Given the description of an element on the screen output the (x, y) to click on. 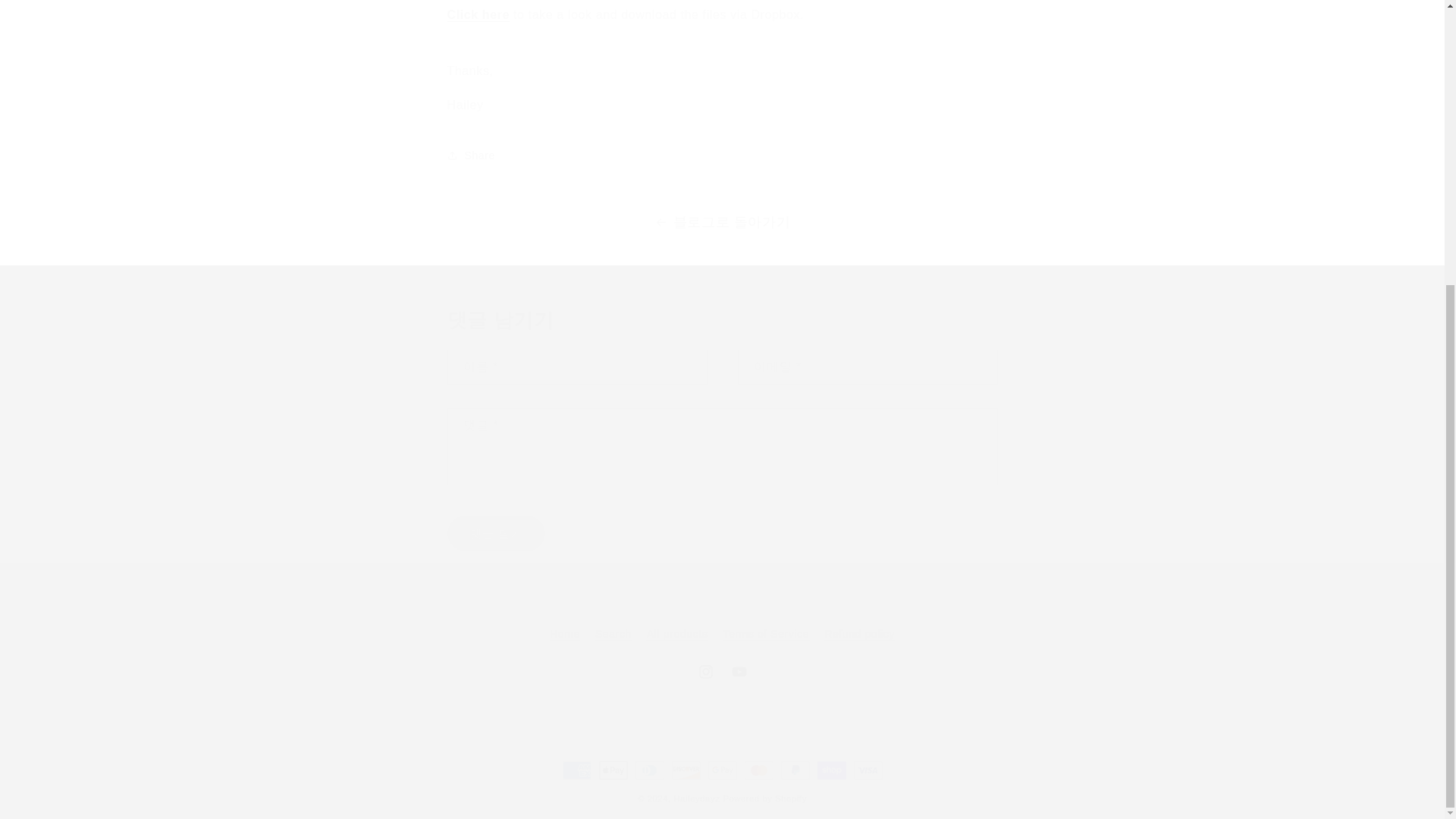
Click here (477, 14)
Home Search All products Terms of Service Refund policy (721, 619)
Share (721, 154)
2023 FEBRUARY FREE WALLPAPERS (721, 671)
Home Search All products Terms of Service Refund policy (477, 14)
